Given the description of an element on the screen output the (x, y) to click on. 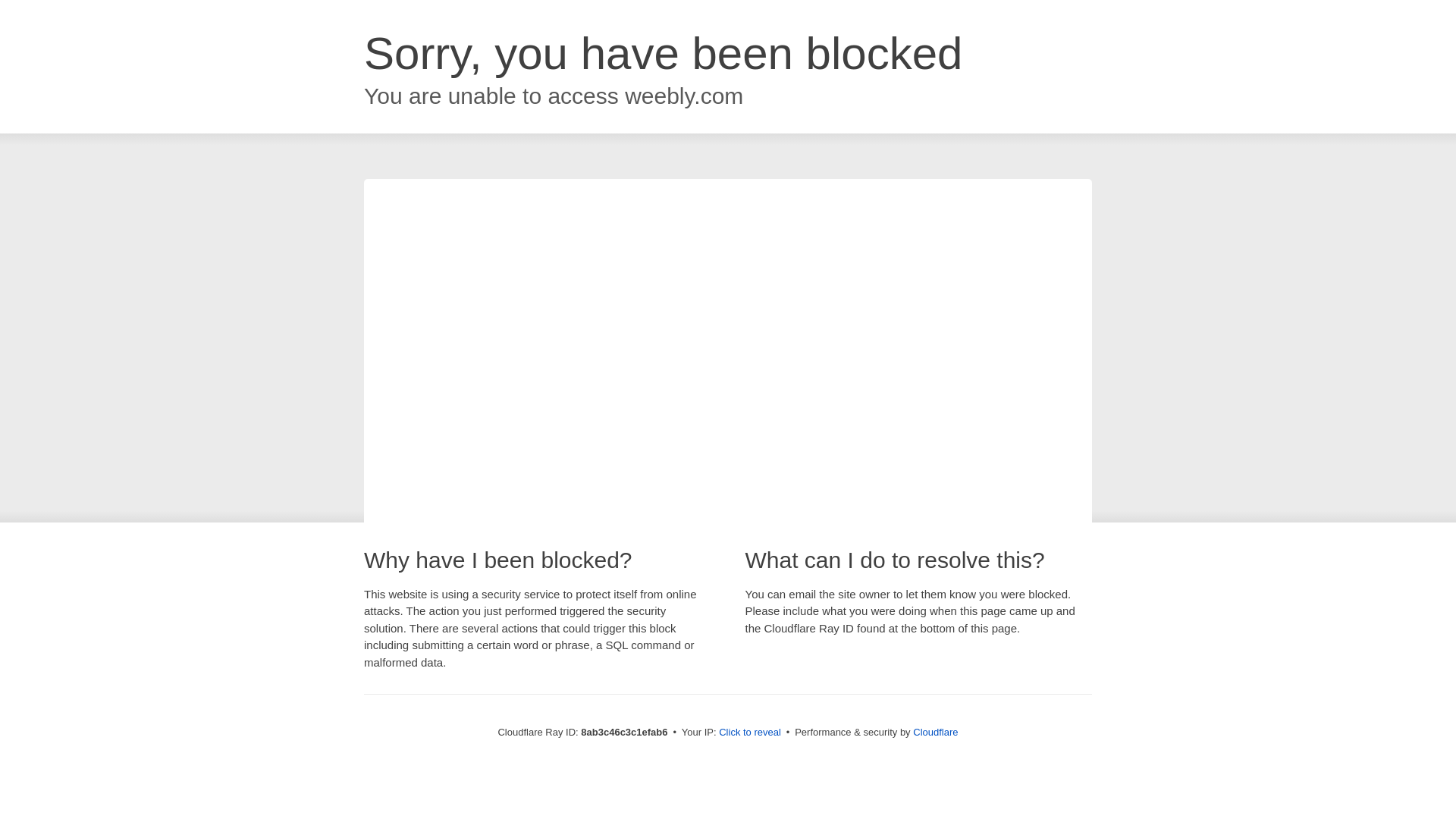
Cloudflare (935, 731)
Click to reveal (749, 732)
